Given the description of an element on the screen output the (x, y) to click on. 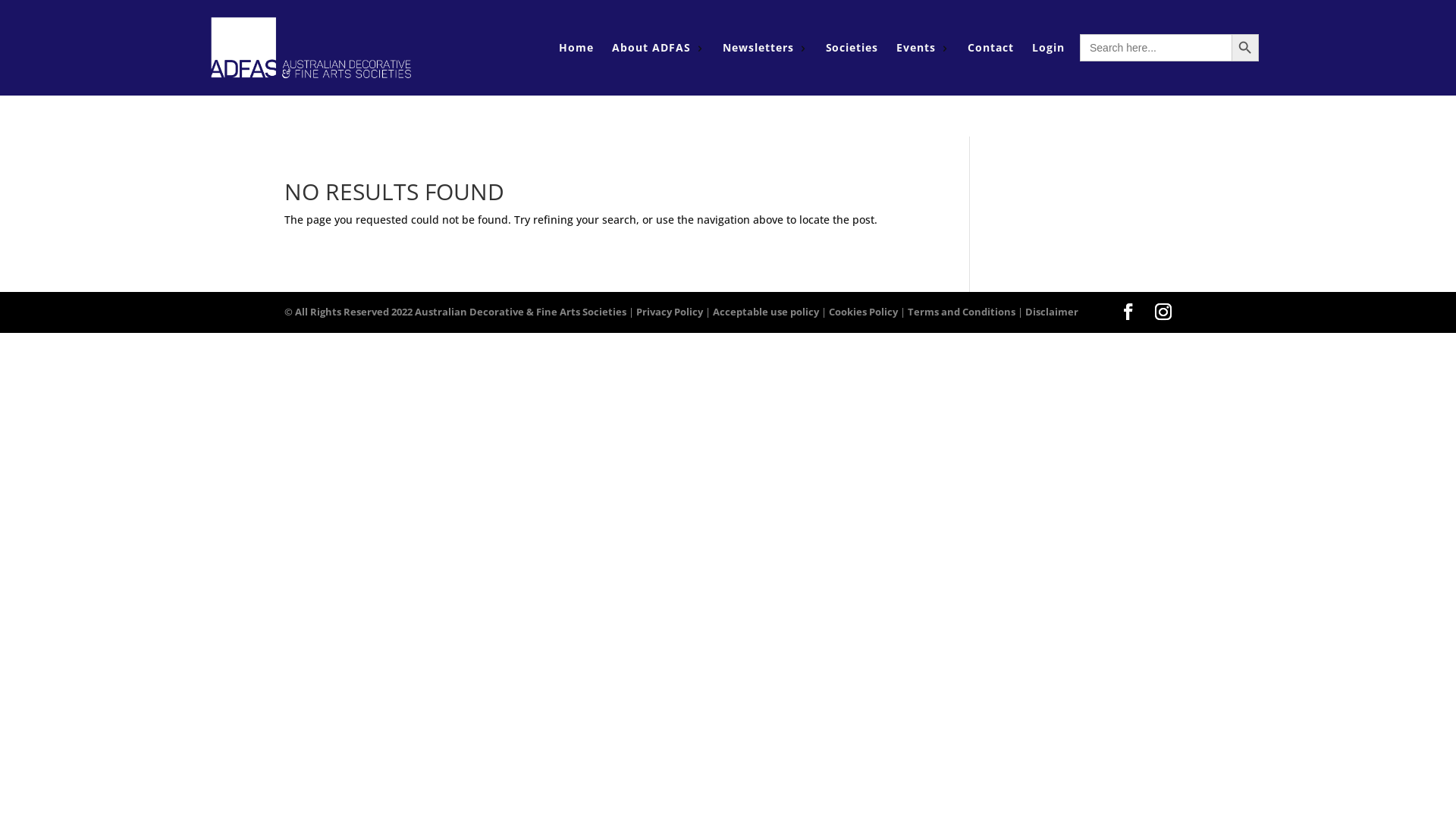
Home Element type: text (575, 47)
Disclaimer Element type: text (1051, 311)
Newsletters Element type: text (757, 47)
Contact Element type: text (990, 47)
Societies Element type: text (851, 47)
About ADFAS Element type: text (650, 47)
Events Element type: text (915, 47)
Privacy Policy Element type: text (669, 311)
Acceptable use policy Element type: text (765, 311)
Terms and Conditions Element type: text (961, 311)
Search Button Element type: text (1244, 47)
Login Element type: text (1048, 47)
Cookies Policy Element type: text (862, 311)
